Given the description of an element on the screen output the (x, y) to click on. 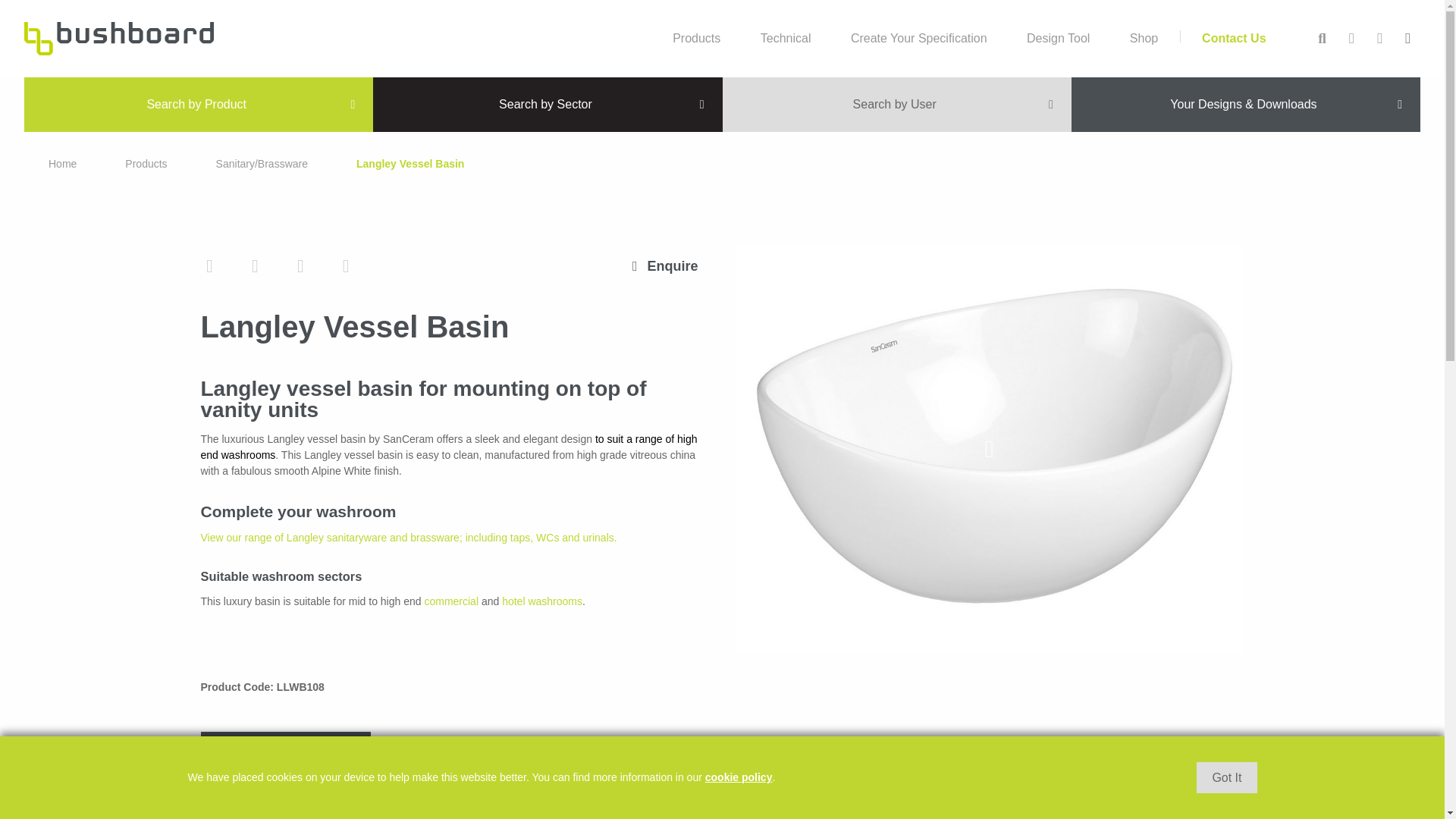
Search by User (896, 103)
cookie policy (738, 776)
Create Your Specification (919, 38)
Share on Facebook (254, 265)
Share (345, 265)
Search by Product (198, 103)
Contact Us (1233, 38)
Products (695, 38)
Langley (409, 163)
Share on Pinterest (300, 265)
Design Tool (1058, 38)
Share on Twitter (208, 265)
Shop (1144, 38)
Products (145, 163)
